Given the description of an element on the screen output the (x, y) to click on. 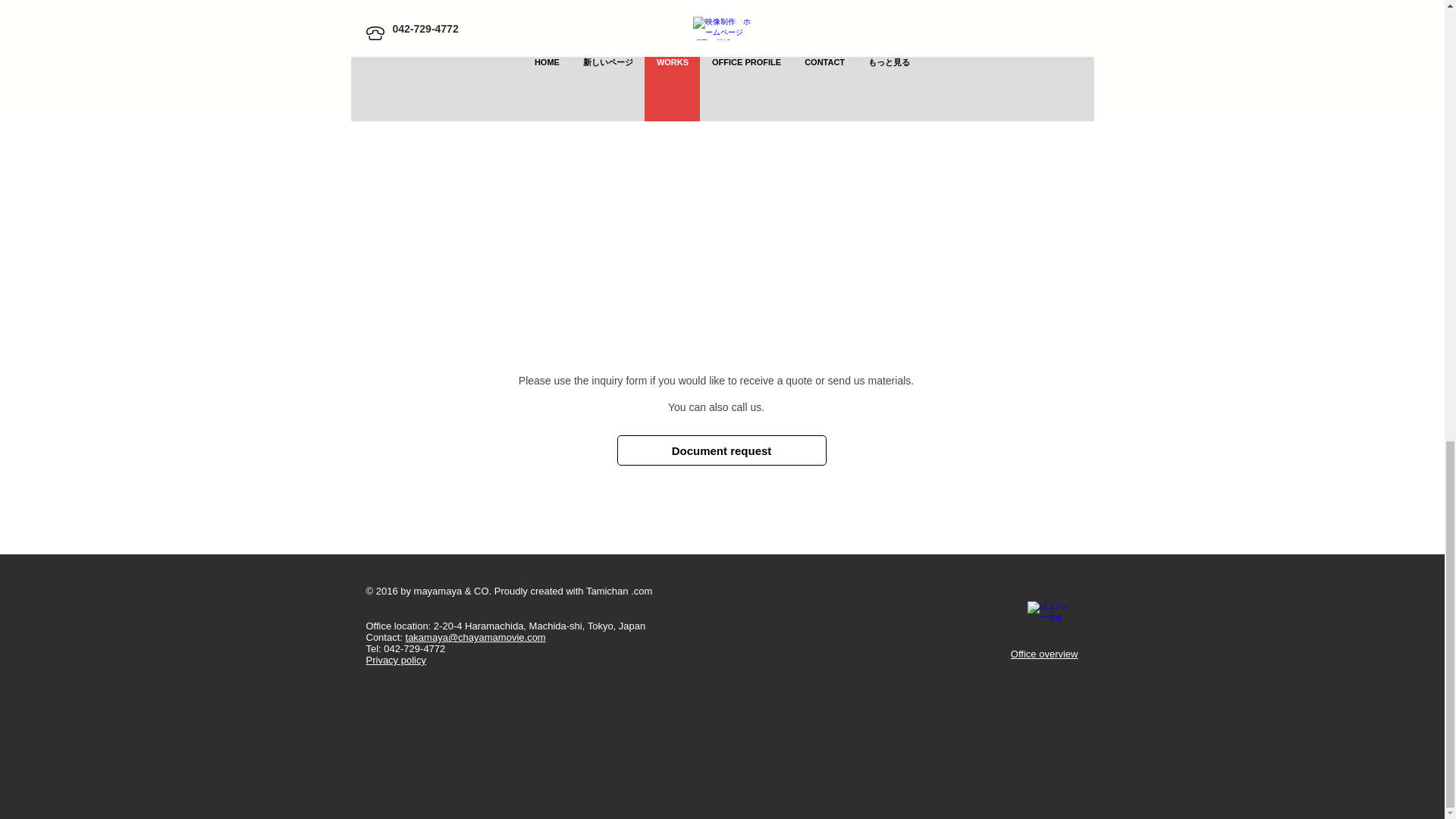
.com (641, 591)
Privacy policy (395, 659)
Office overview (1044, 654)
Document request (722, 450)
